Given the description of an element on the screen output the (x, y) to click on. 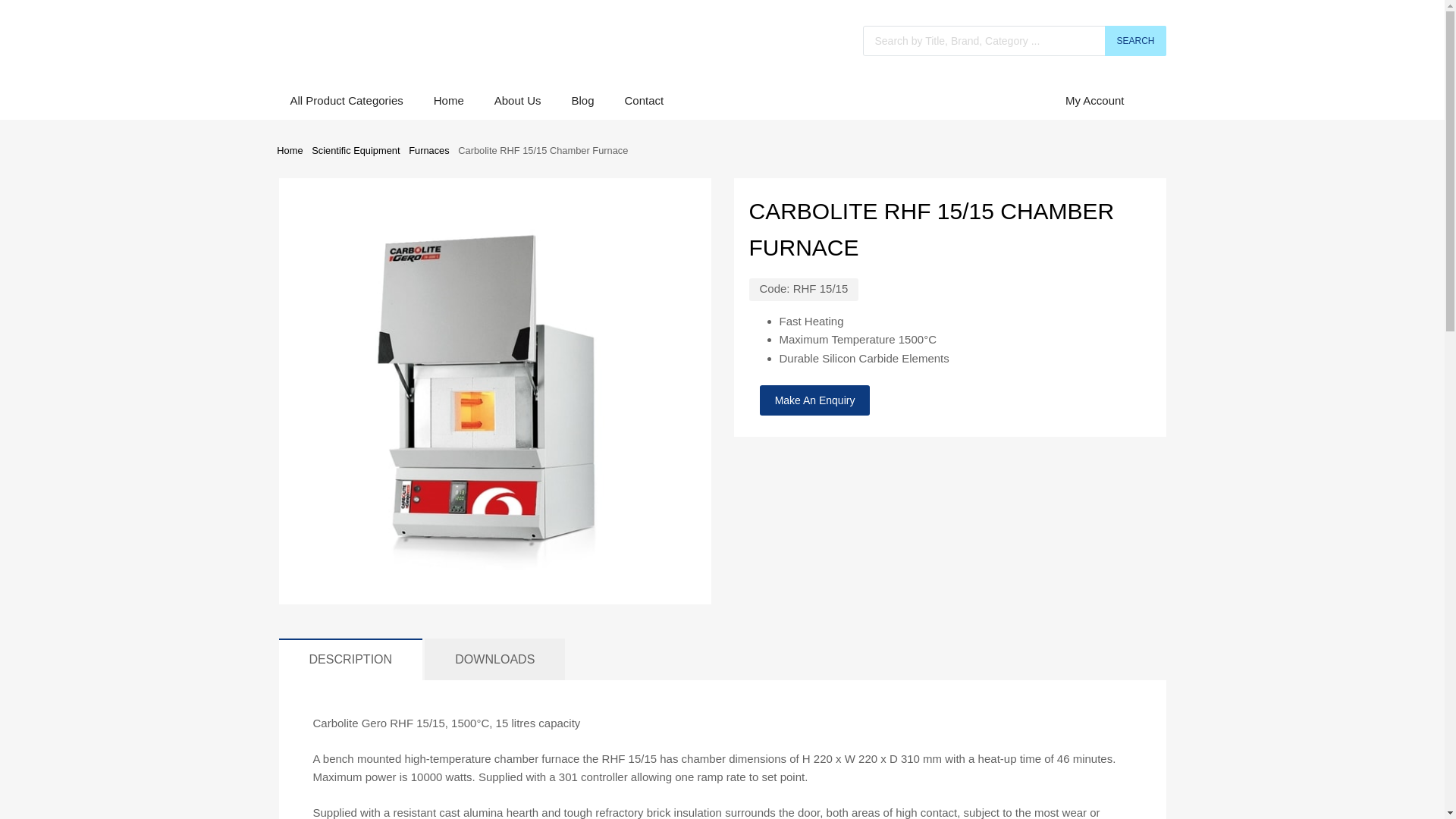
RHF Small Models (495, 388)
SEARCH (1135, 40)
Norrscope (354, 47)
